Given the description of an element on the screen output the (x, y) to click on. 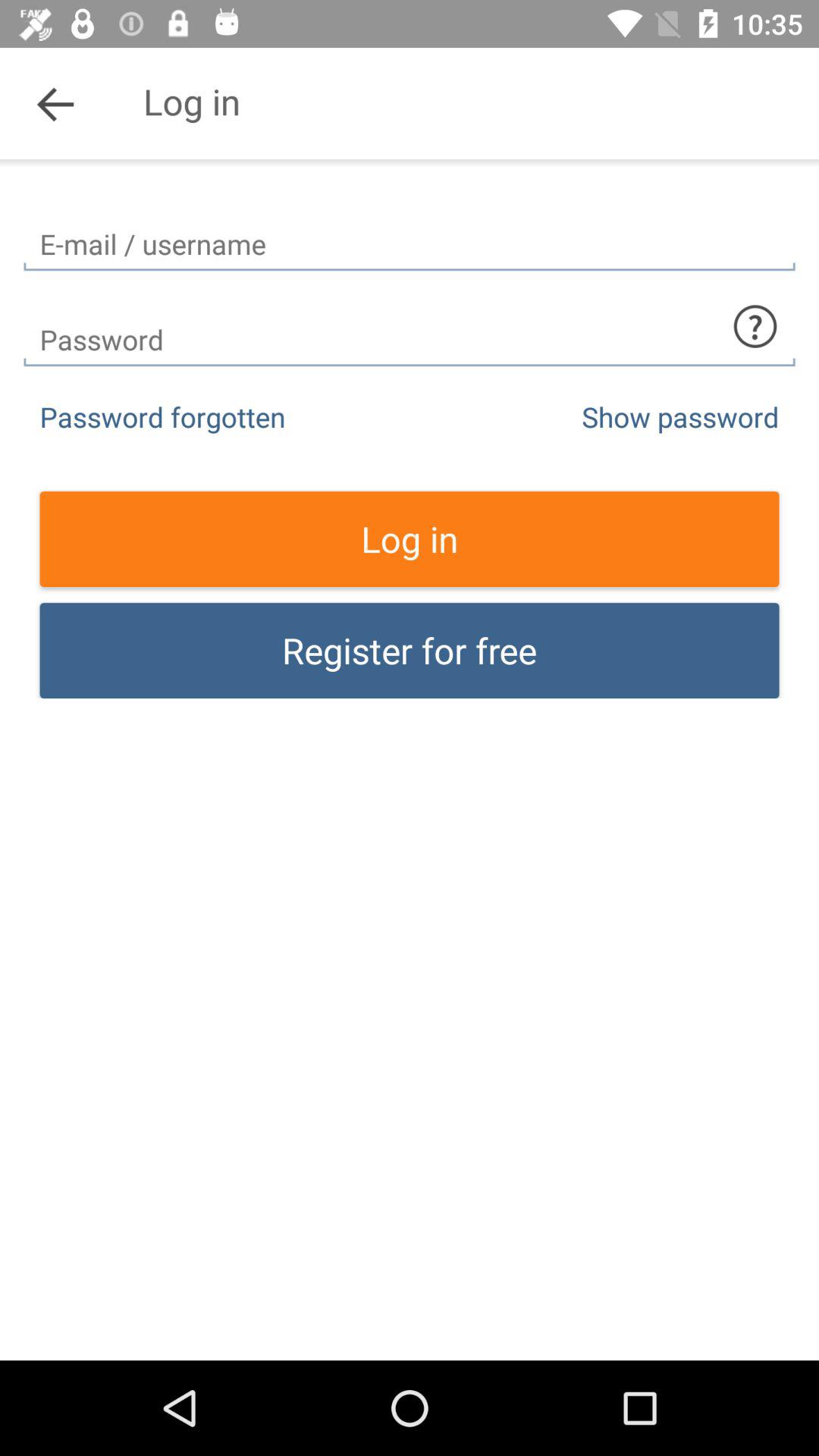
enter the password box (409, 326)
